Given the description of an element on the screen output the (x, y) to click on. 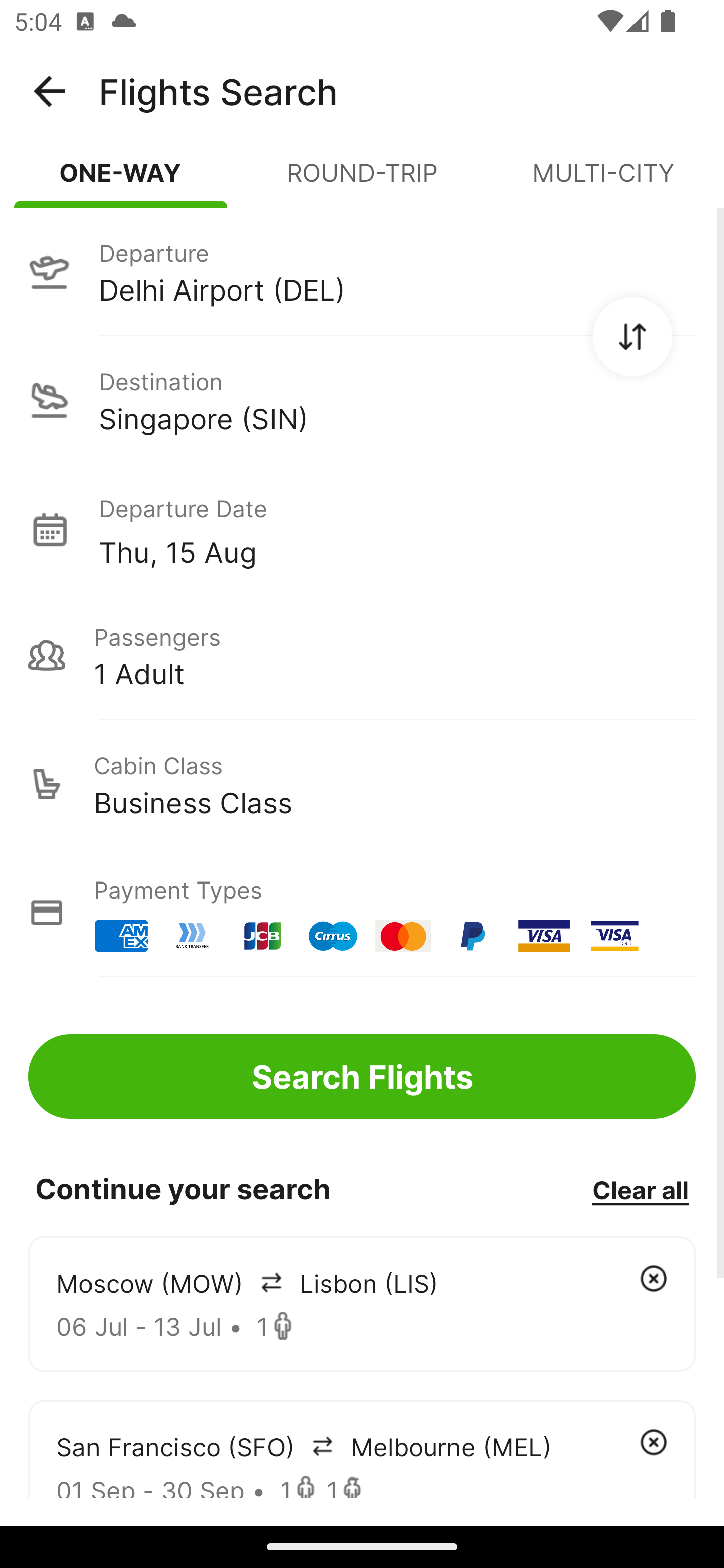
ONE-WAY (120, 180)
ROUND-TRIP (361, 180)
MULTI-CITY (603, 180)
Departure Delhi Airport (DEL) (362, 270)
Destination Singapore (SIN) (362, 400)
Departure Date Thu, 15 Aug (396, 528)
Passengers 1 Adult (362, 655)
Cabin Class Business Class (362, 783)
Payment Types (362, 912)
Search Flights (361, 1075)
Clear all (640, 1189)
